Given the description of an element on the screen output the (x, y) to click on. 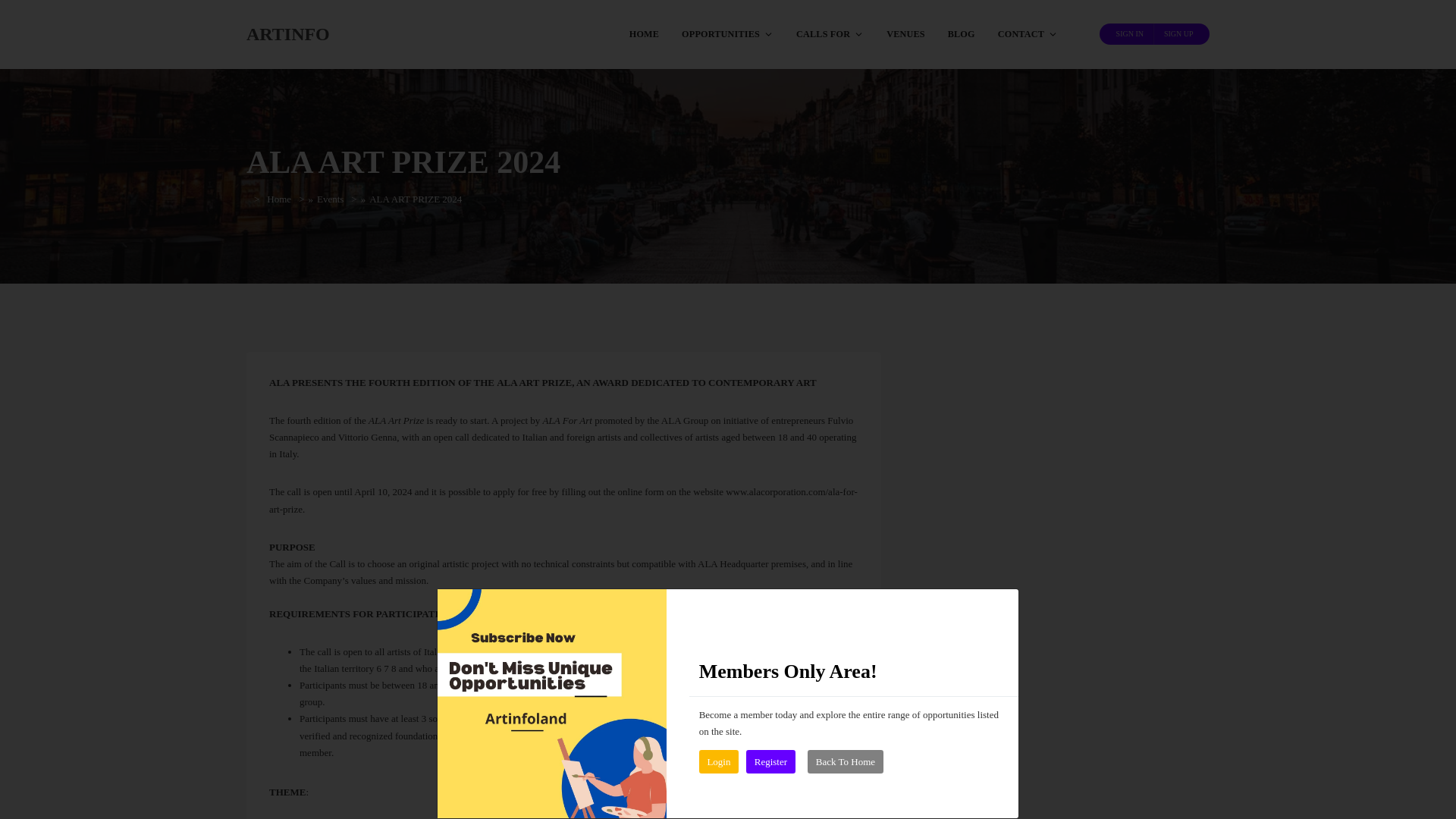
ARTINFO (288, 33)
HOME (643, 33)
OPPORTUNITIES (726, 33)
